Given the description of an element on the screen output the (x, y) to click on. 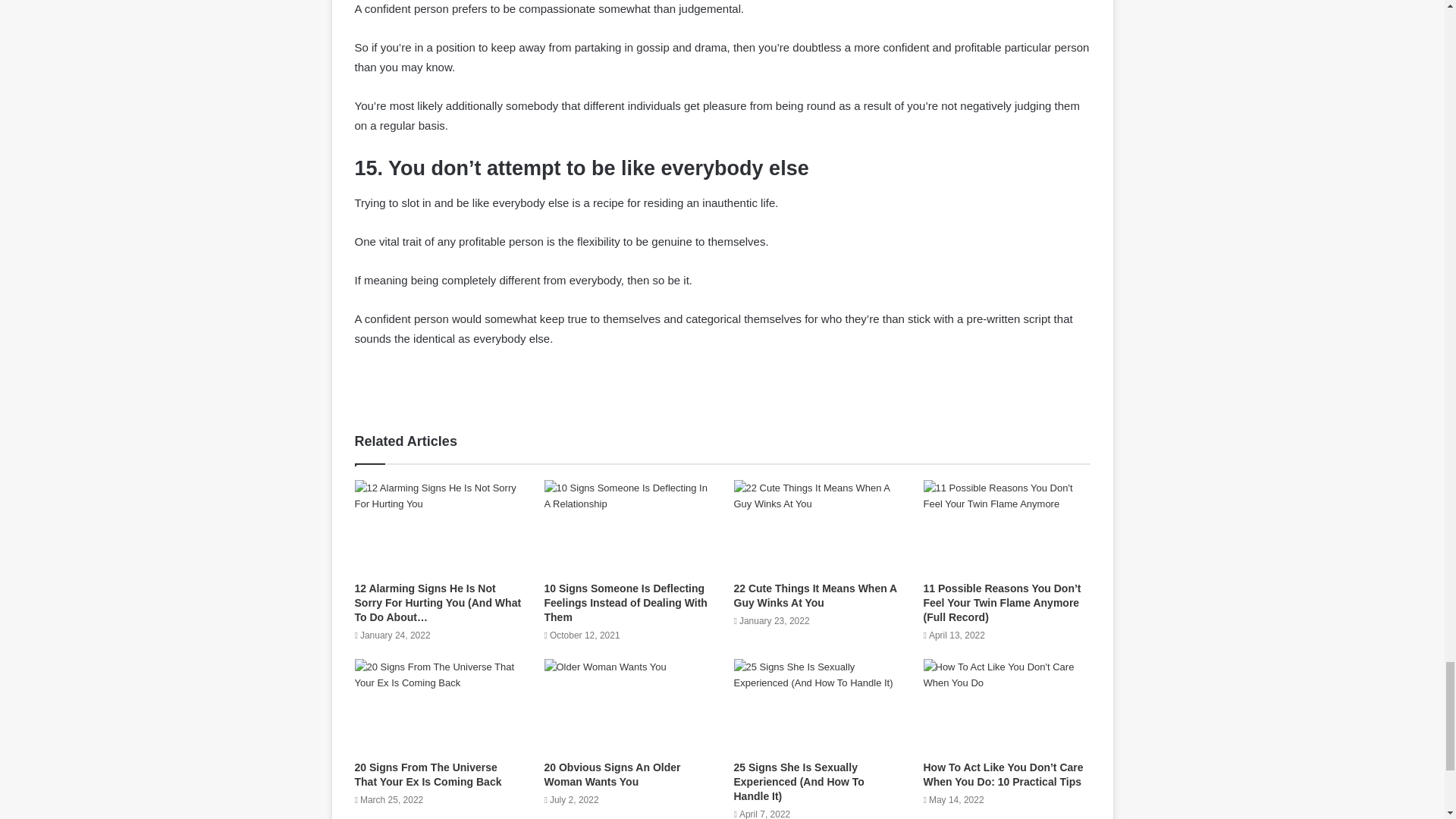
20 Signs From The Universe That Your Ex Is Coming Back (428, 774)
20 Obvious Signs An Older Woman Wants You (612, 774)
22 Cute Things It Means When A Guy Winks At You (814, 595)
